Given the description of an element on the screen output the (x, y) to click on. 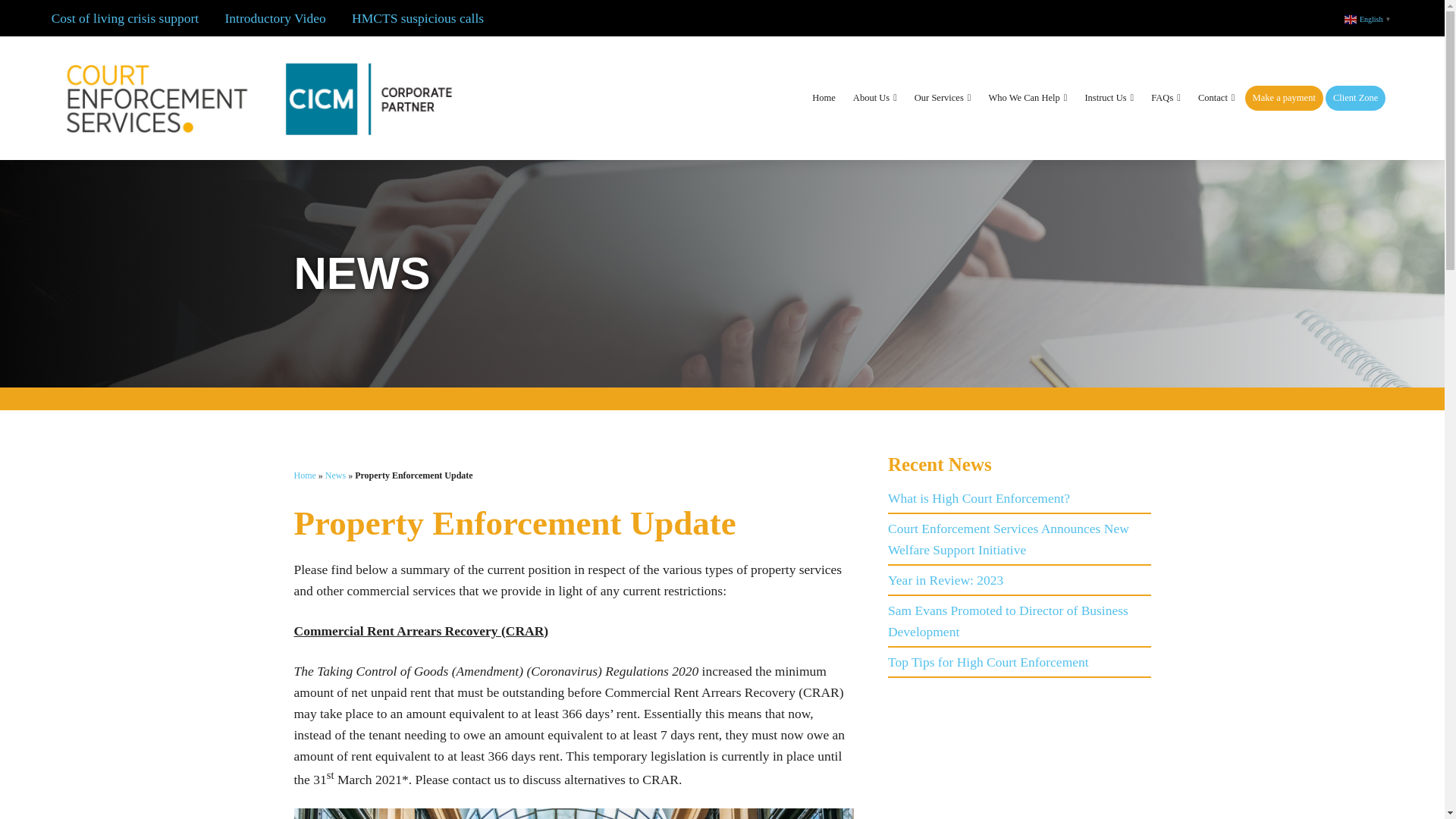
Cost of living crisis support (124, 17)
Introductory Video (274, 17)
HMCTS suspicious calls (417, 17)
